Given the description of an element on the screen output the (x, y) to click on. 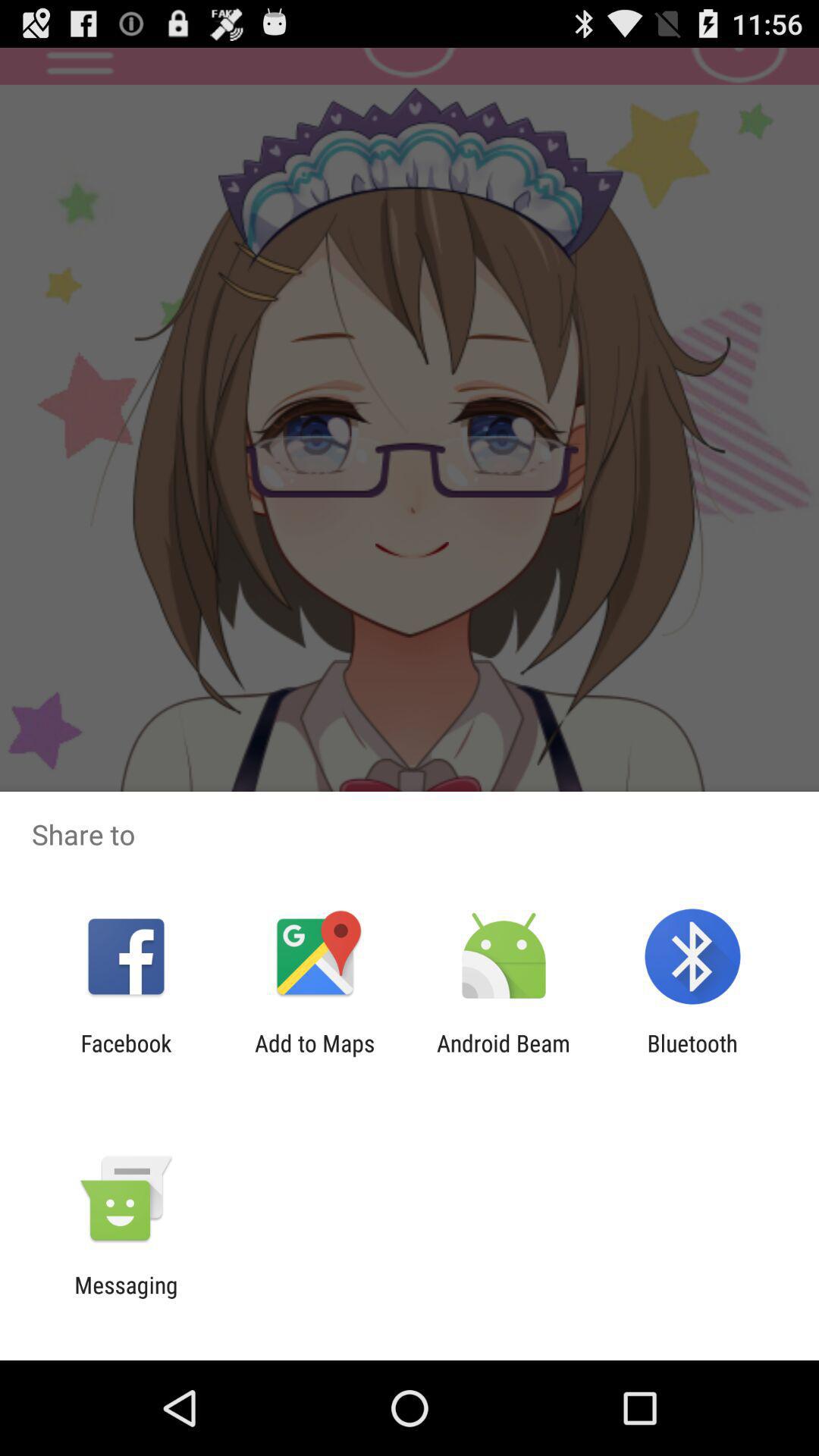
scroll to facebook (125, 1056)
